Given the description of an element on the screen output the (x, y) to click on. 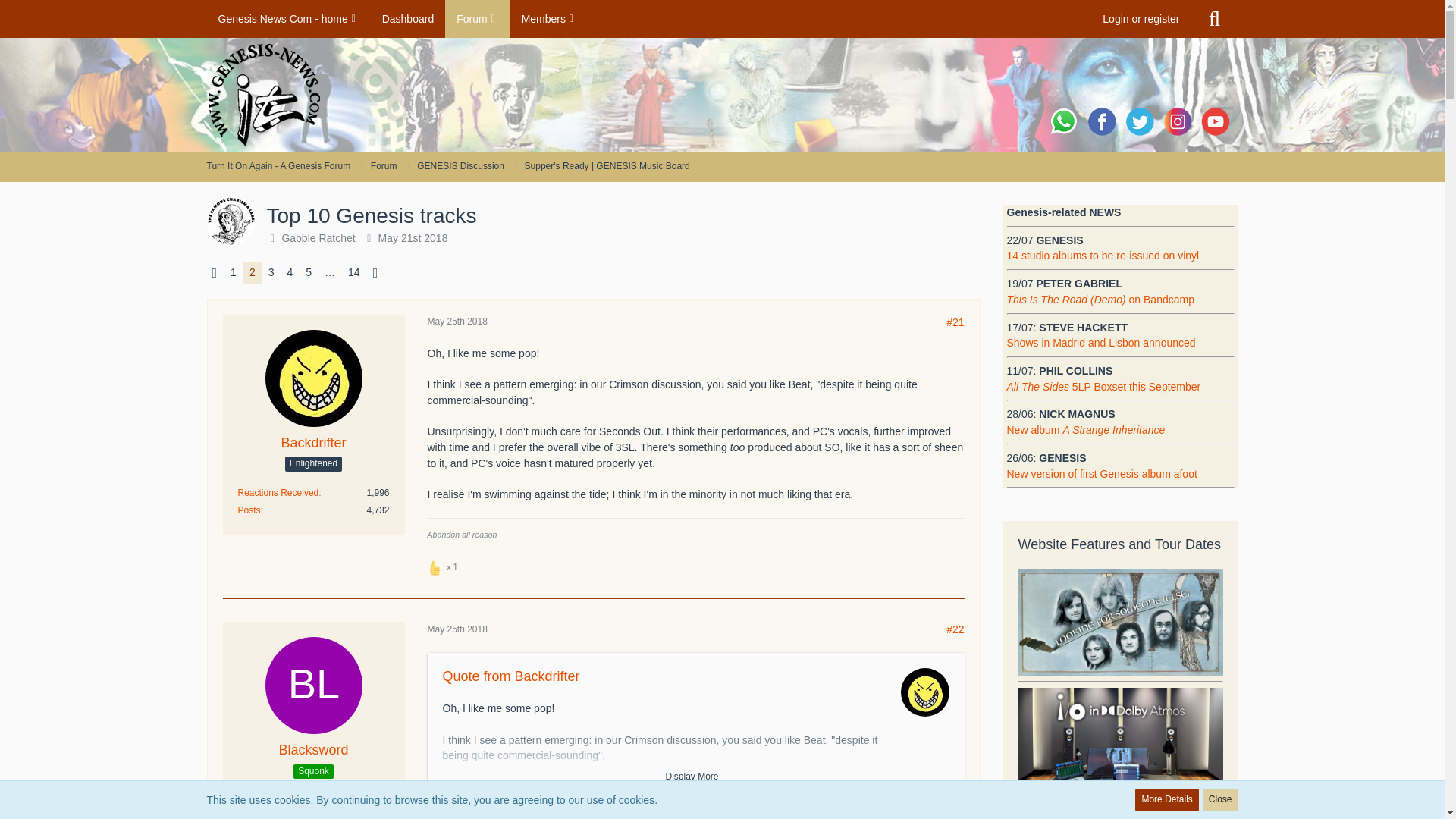
Members (549, 18)
Forum (477, 18)
Forum (384, 165)
Gabble Ratchet (318, 237)
GENESIS Discussion (466, 166)
Turn It On Again - A Genesis Forum (284, 166)
GENESIS Discussion (459, 165)
Turn It On Again - A Genesis Forum (278, 165)
